Given the description of an element on the screen output the (x, y) to click on. 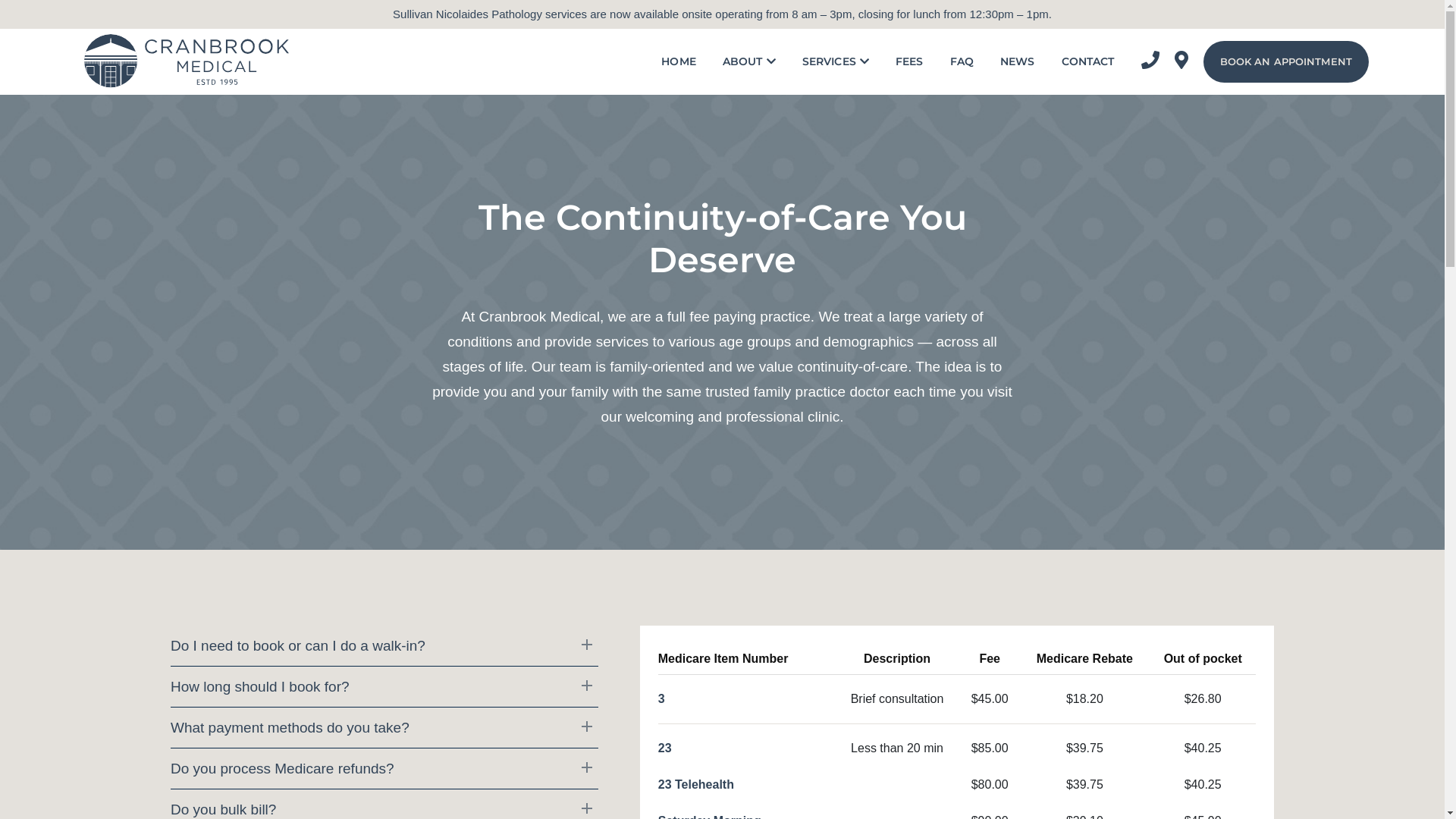
SERVICES Element type: text (835, 61)
FEES Element type: text (909, 61)
ABOUT Element type: text (748, 61)
Cranbrook Medical Element type: hover (181, 60)
BOOK AN APPOINTMENT Element type: text (1285, 61)
NEWS Element type: text (1017, 61)
HOME Element type: text (678, 61)
FAQ Element type: text (961, 61)
CONTACT Element type: text (1087, 61)
